Given the description of an element on the screen output the (x, y) to click on. 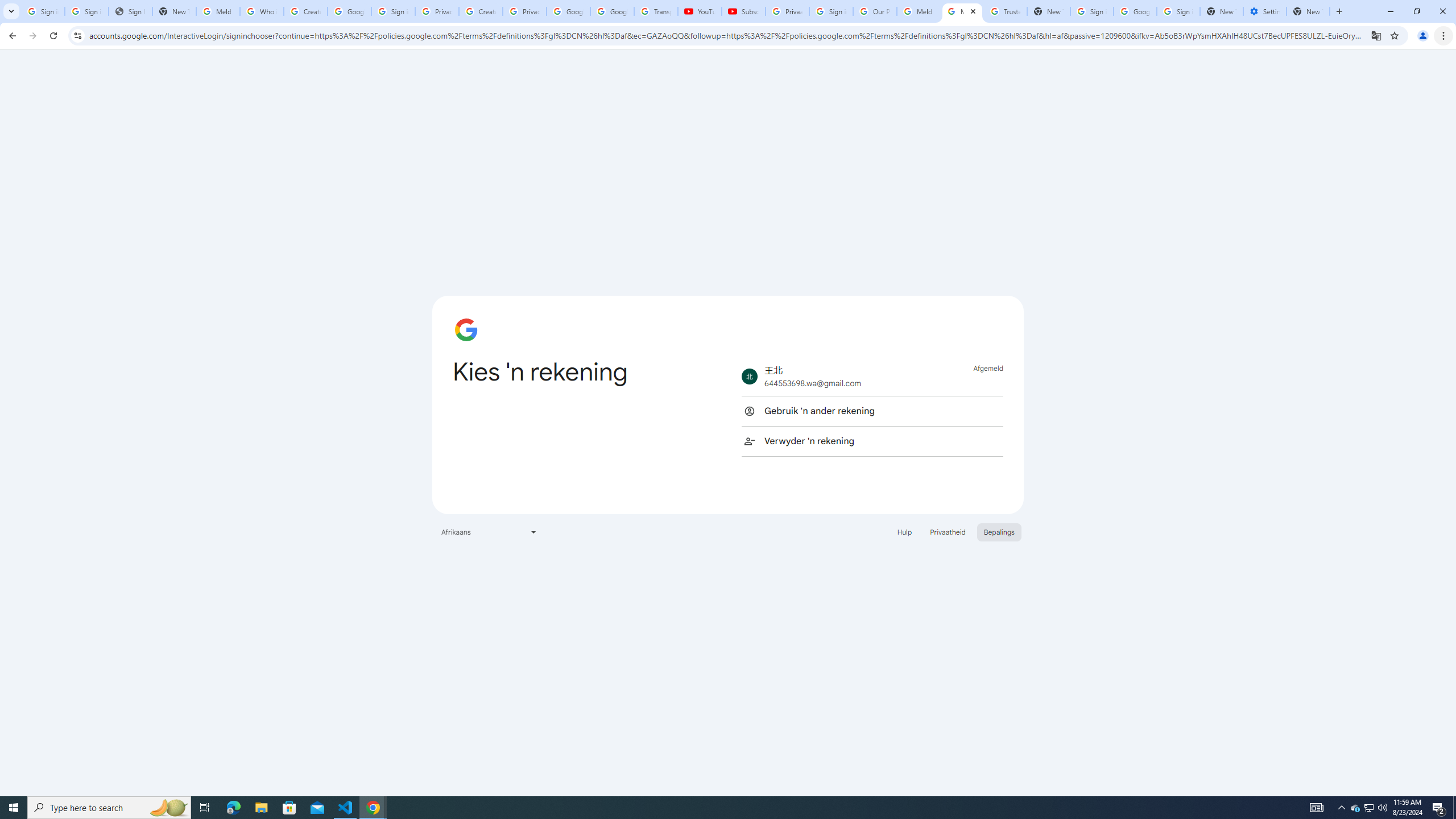
Sign in - Google Accounts (42, 11)
Translate this page (1376, 35)
New Tab (1221, 11)
Gebruik 'n ander rekening (871, 410)
Sign in - Google Accounts (393, 11)
